Given the description of an element on the screen output the (x, y) to click on. 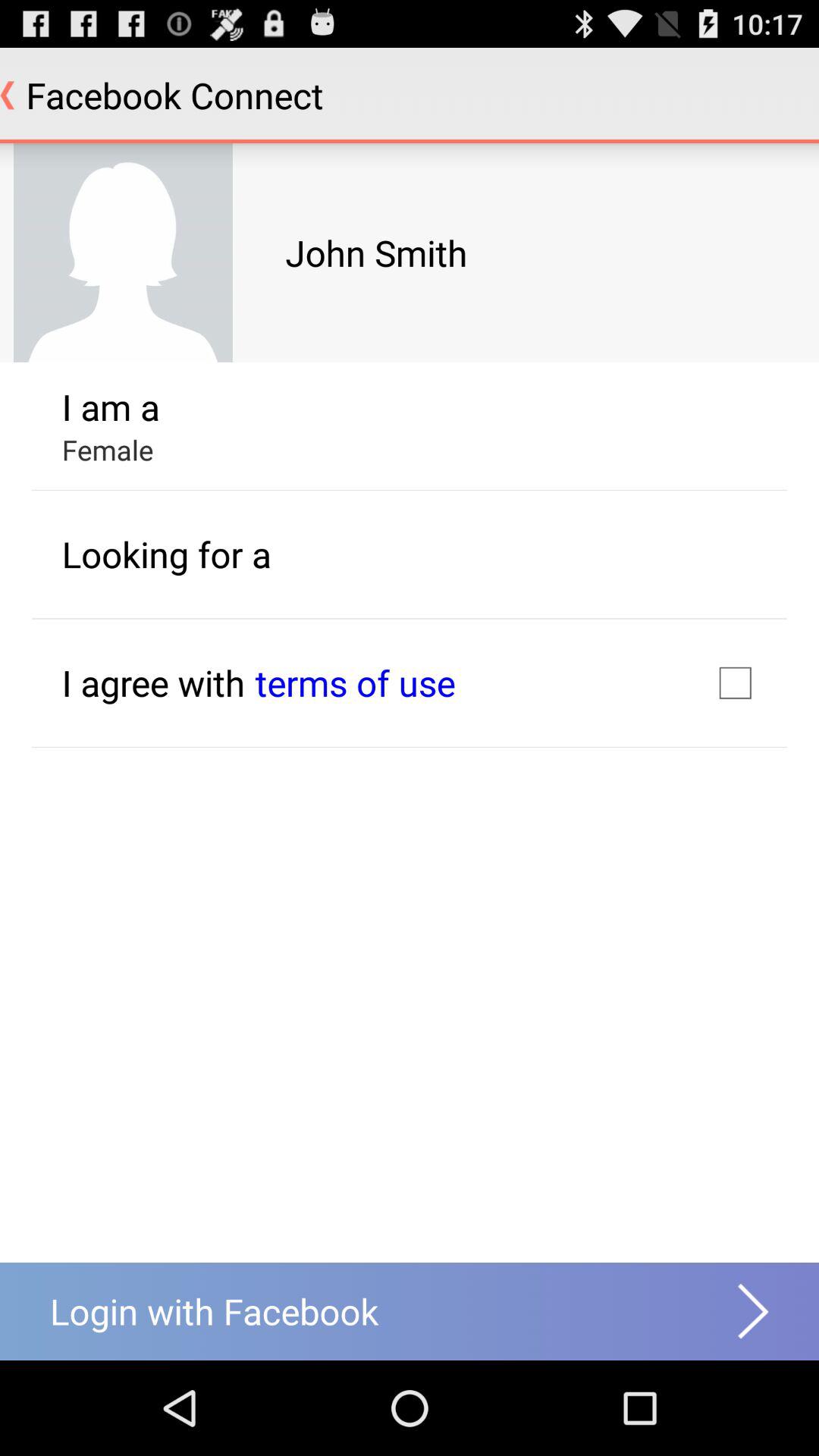
open item to the right of the i agree with (355, 682)
